Given the description of an element on the screen output the (x, y) to click on. 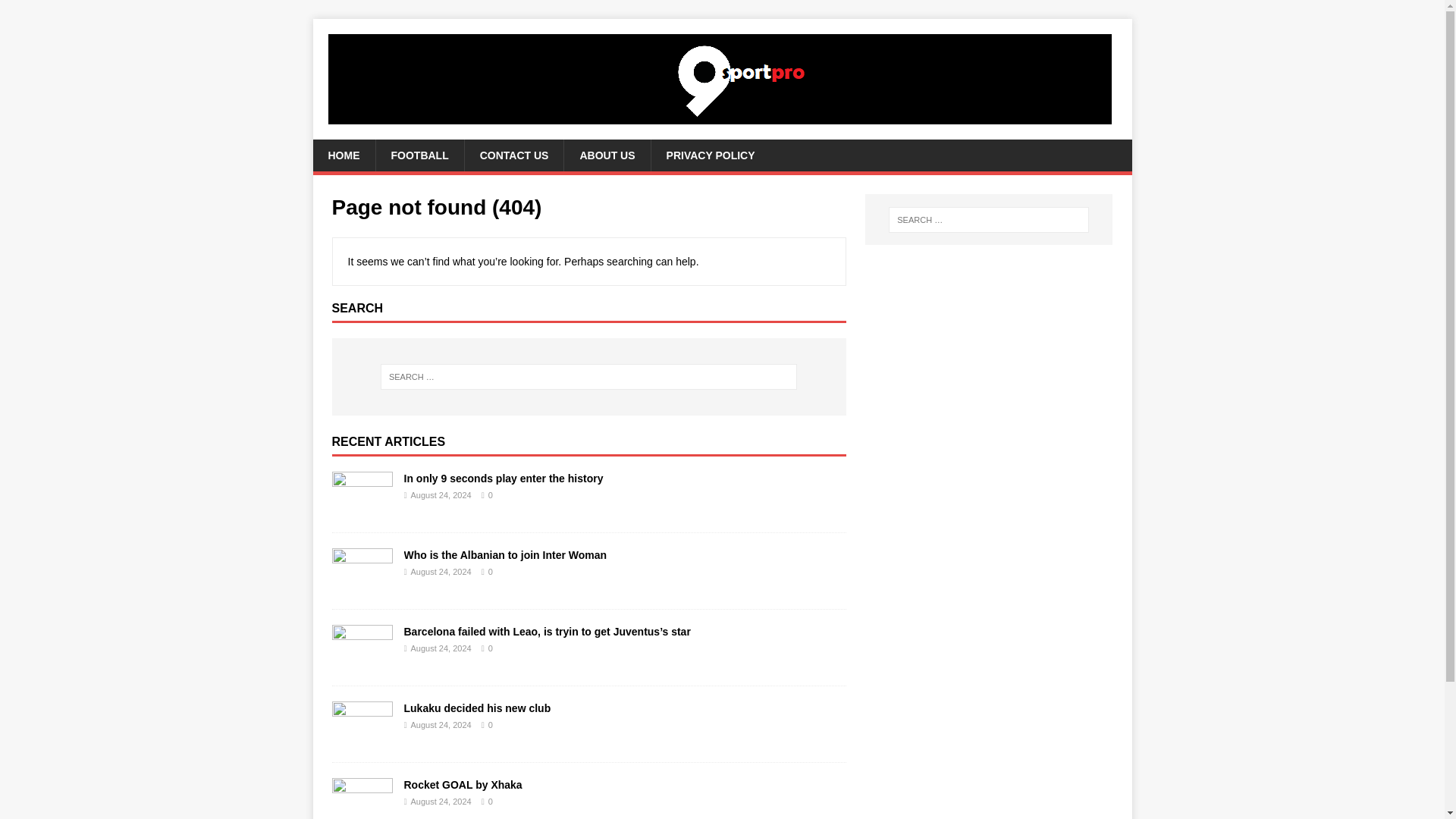
Who is the Albanian to join Inter Woman (505, 554)
In only 9 seconds play enter the history (362, 508)
Lukaku decided his new club (362, 737)
Lukaku decided his new club (476, 707)
Search (56, 11)
HOME (343, 155)
Lukaku decided his new club (476, 707)
CONTACT US (514, 155)
Rocket GOAL by Xhaka (462, 784)
Rocket GOAL by Xhaka (362, 813)
